Given the description of an element on the screen output the (x, y) to click on. 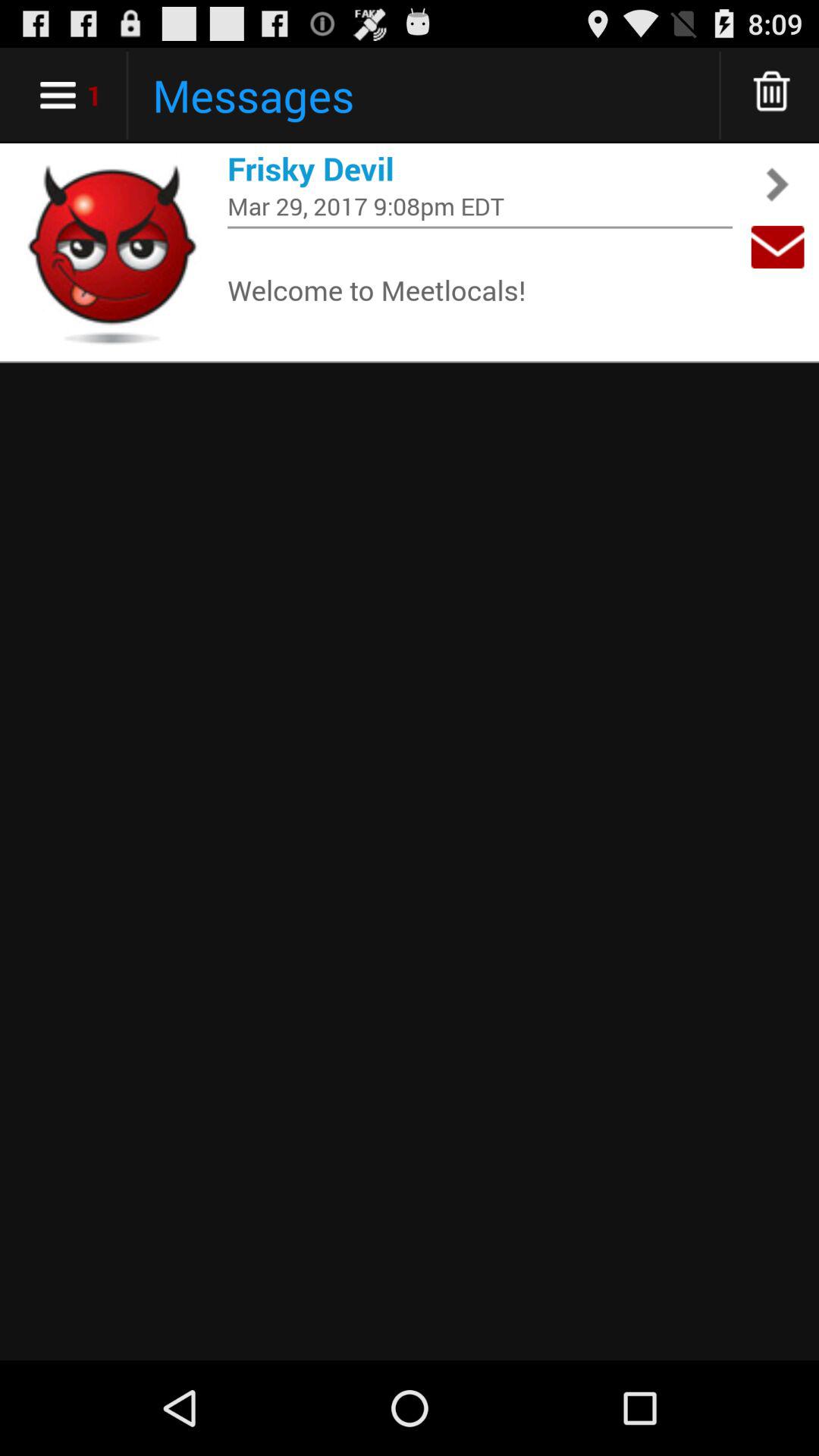
launch the mar 29 2017 item (479, 205)
